Given the description of an element on the screen output the (x, y) to click on. 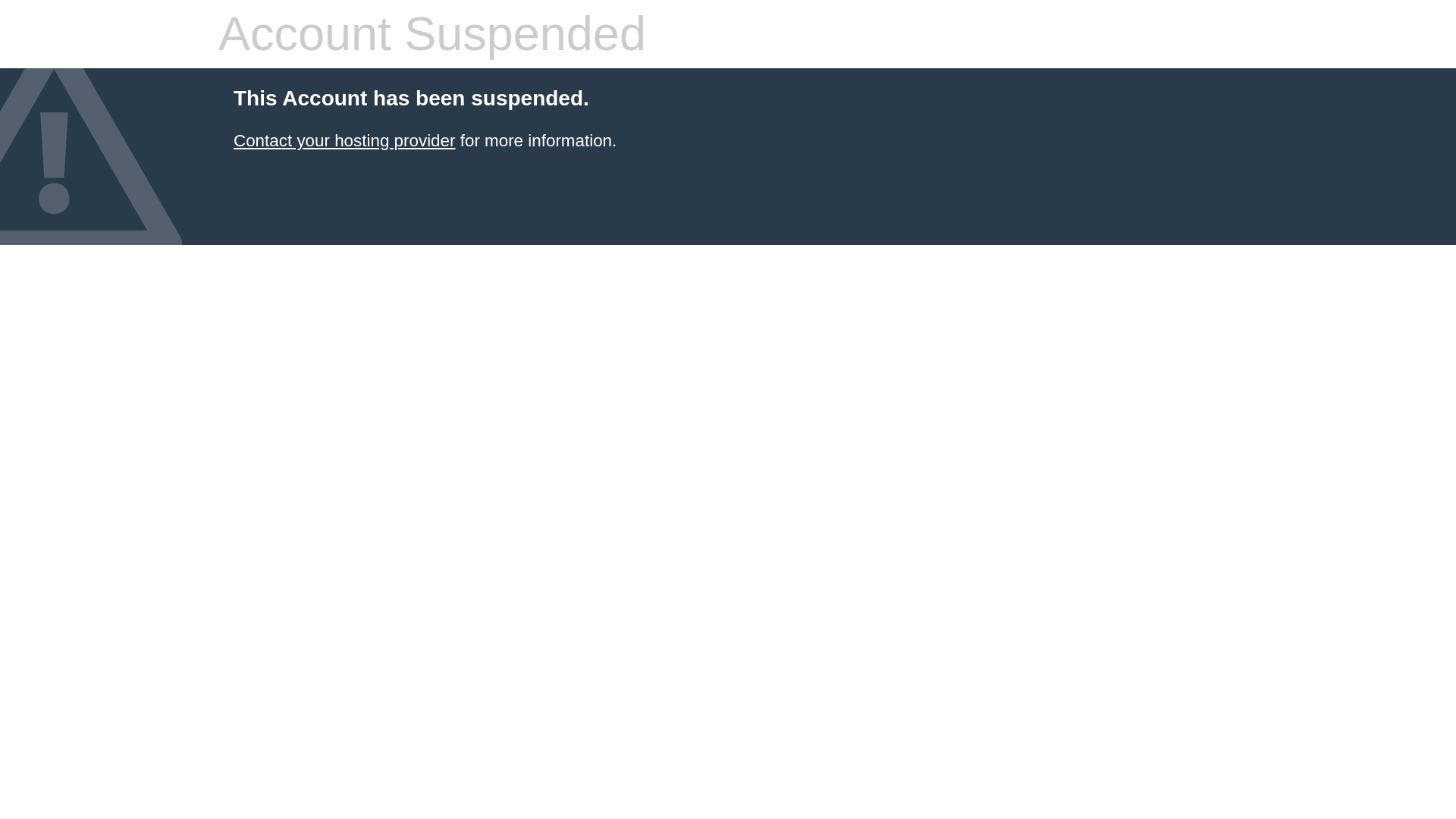
Contact your hosting provider (343, 140)
